Given the description of an element on the screen output the (x, y) to click on. 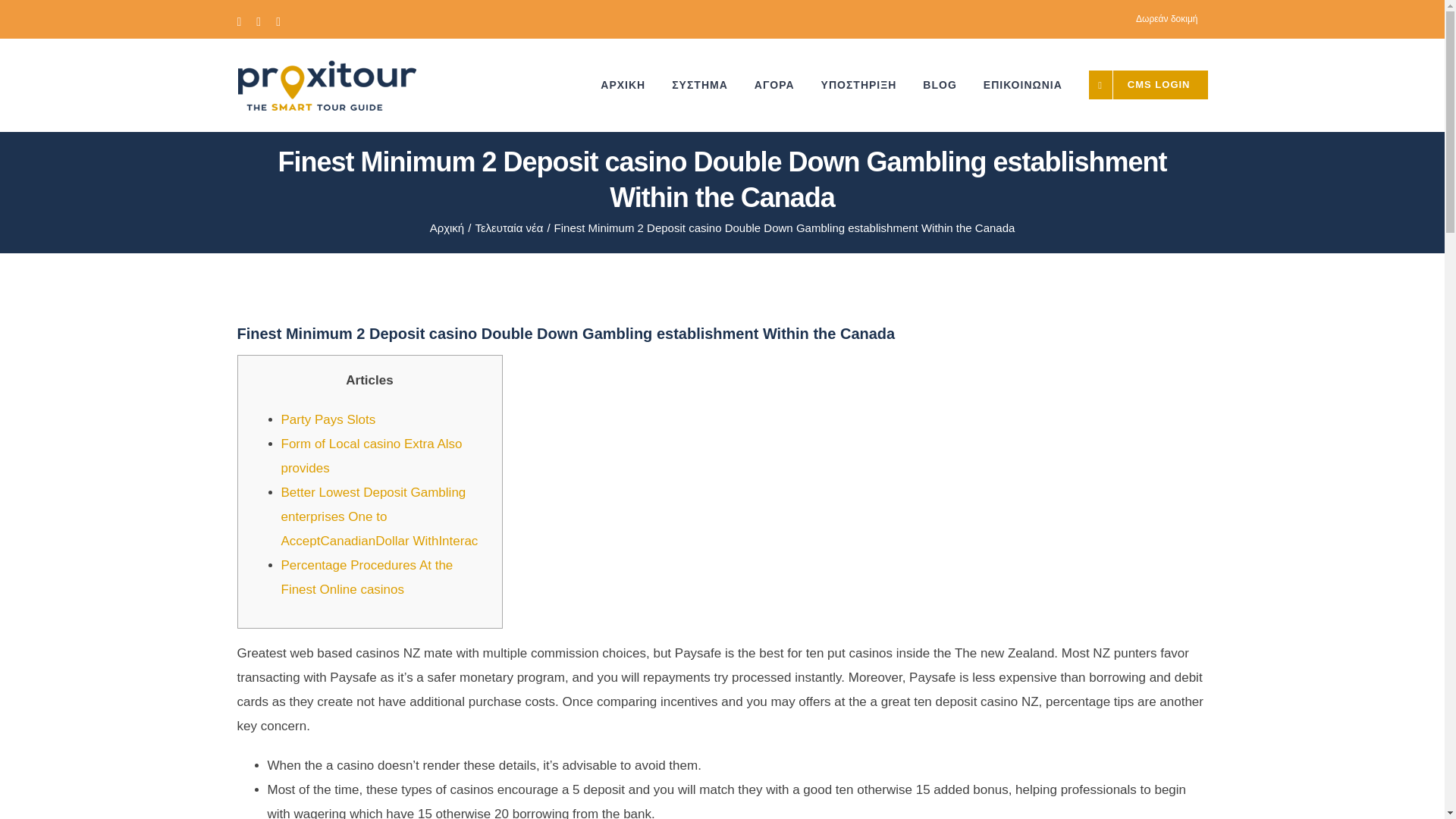
CMS LOGIN (1148, 84)
Percentage Procedures At the Finest Online casinos (366, 577)
Party Pays Slots (328, 419)
Form of Local casino Extra Also provides (371, 455)
